Given the description of an element on the screen output the (x, y) to click on. 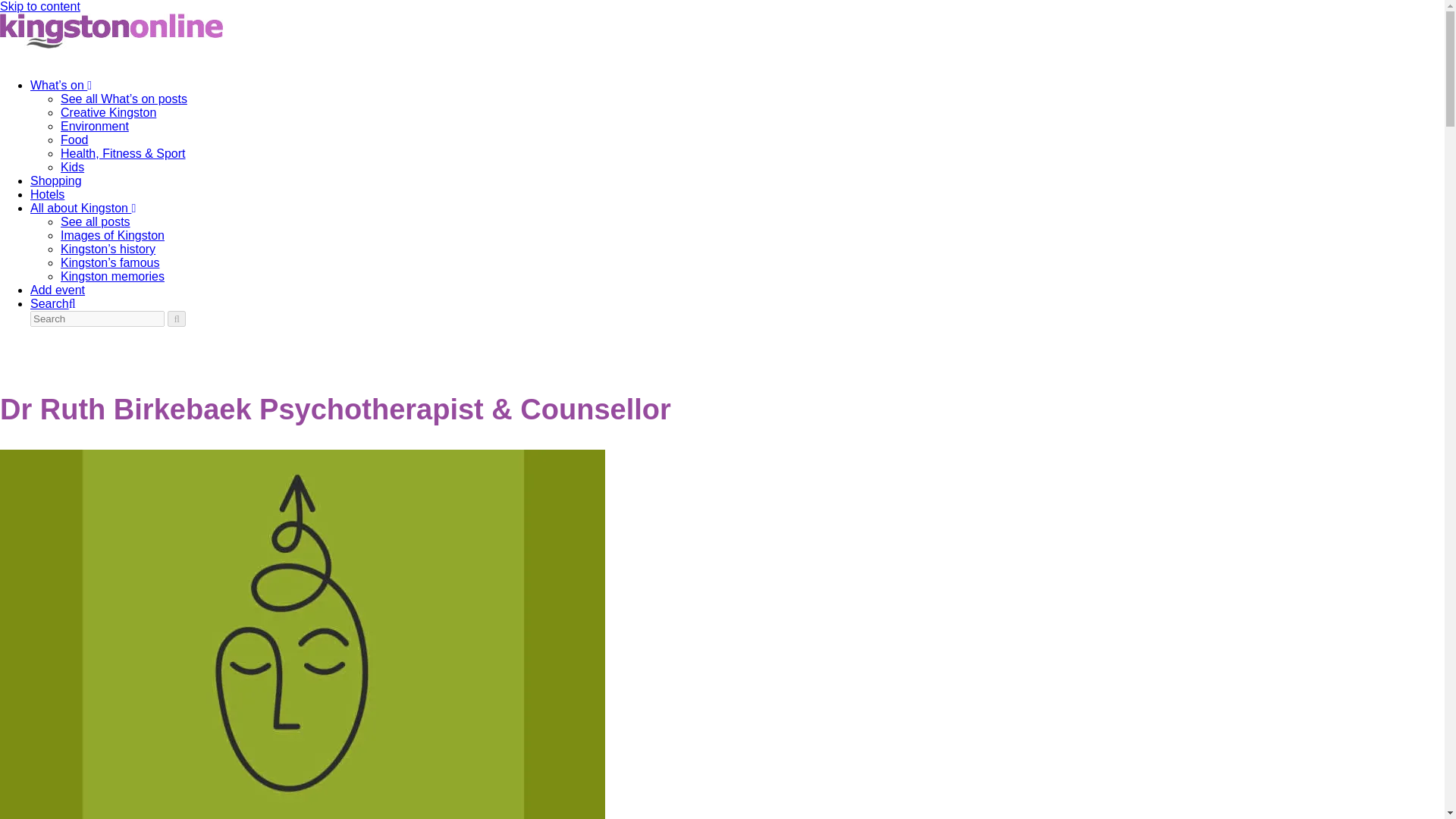
Images of Kingston (112, 235)
Shopping (55, 180)
Search (52, 303)
Kingston memories (112, 276)
Submit (175, 318)
Skip to content (40, 6)
Environment (95, 125)
All about Kingston (82, 207)
Food (74, 139)
See all posts (96, 221)
Creative Kingston (108, 112)
Add event (57, 289)
Kids (72, 166)
Hotels (47, 194)
